Given the description of an element on the screen output the (x, y) to click on. 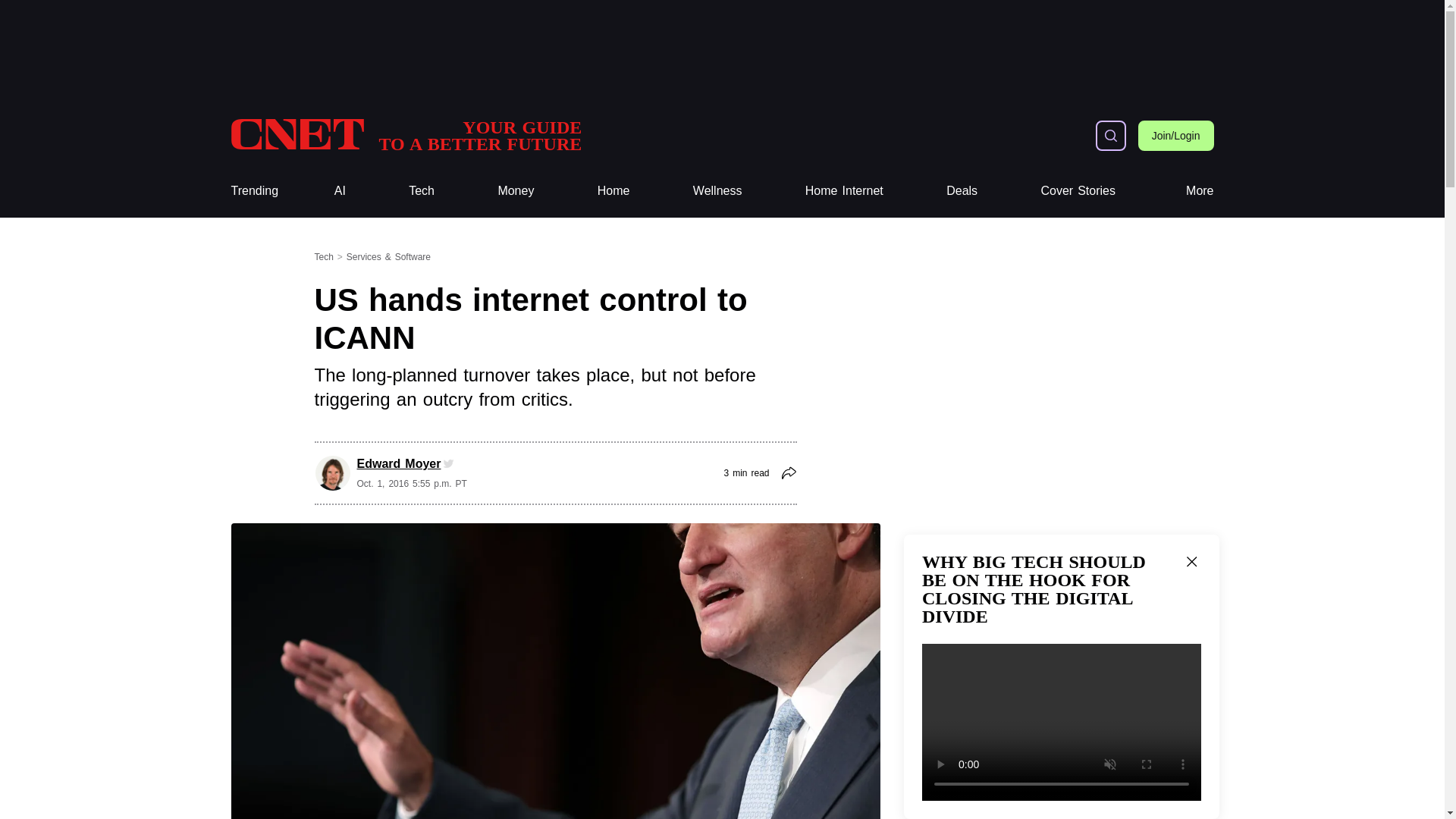
CNET (405, 135)
Home (405, 135)
Home (613, 190)
Wellness (613, 190)
More (717, 190)
Tech (1199, 190)
Trending (421, 190)
Money (254, 190)
Money (515, 190)
